Given the description of an element on the screen output the (x, y) to click on. 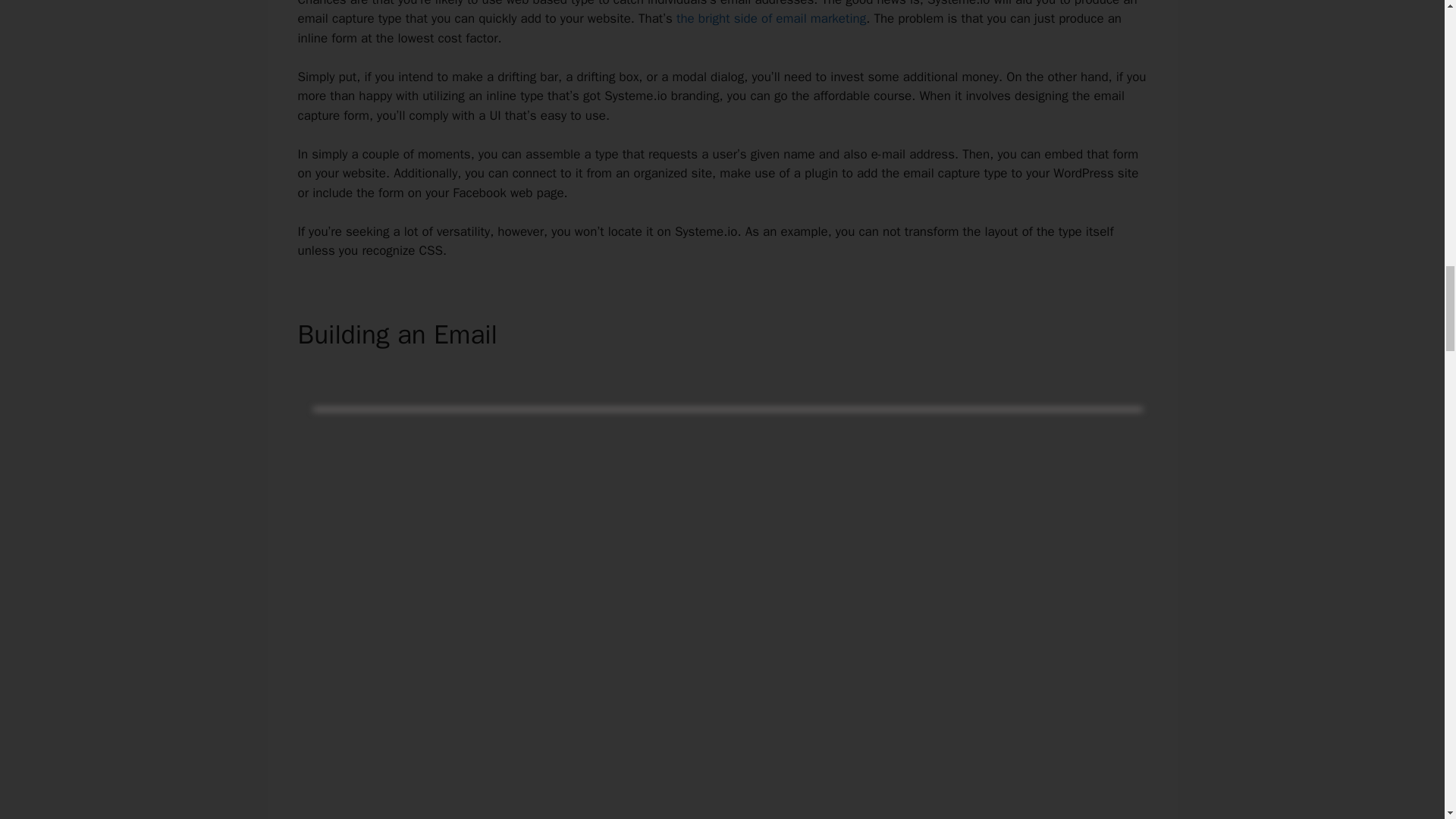
the bright side of email marketing (771, 18)
